Given the description of an element on the screen output the (x, y) to click on. 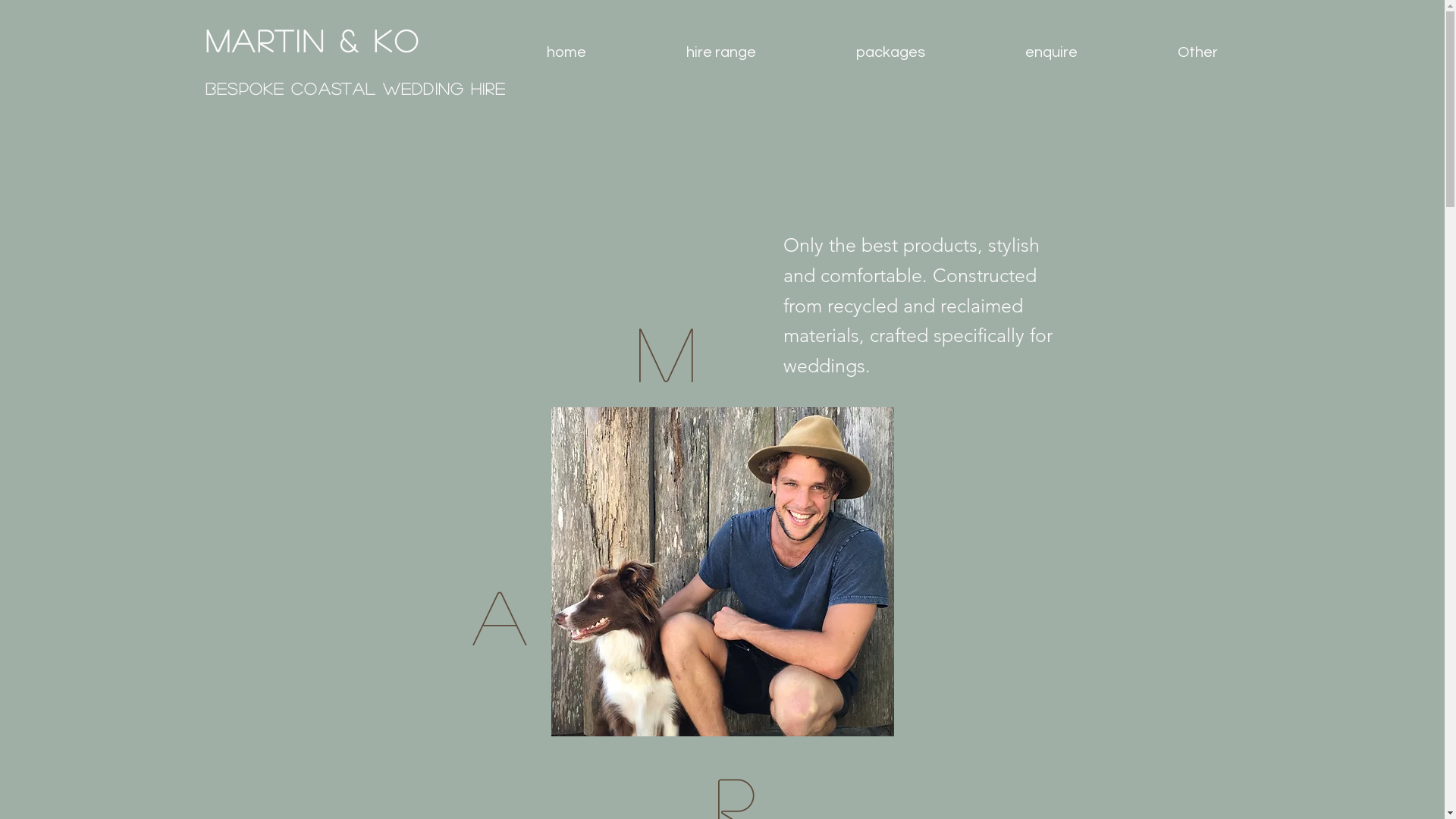
home Element type: text (565, 52)
Martin & Ko Founder, Alex Martin Element type: hover (721, 571)
